Given the description of an element on the screen output the (x, y) to click on. 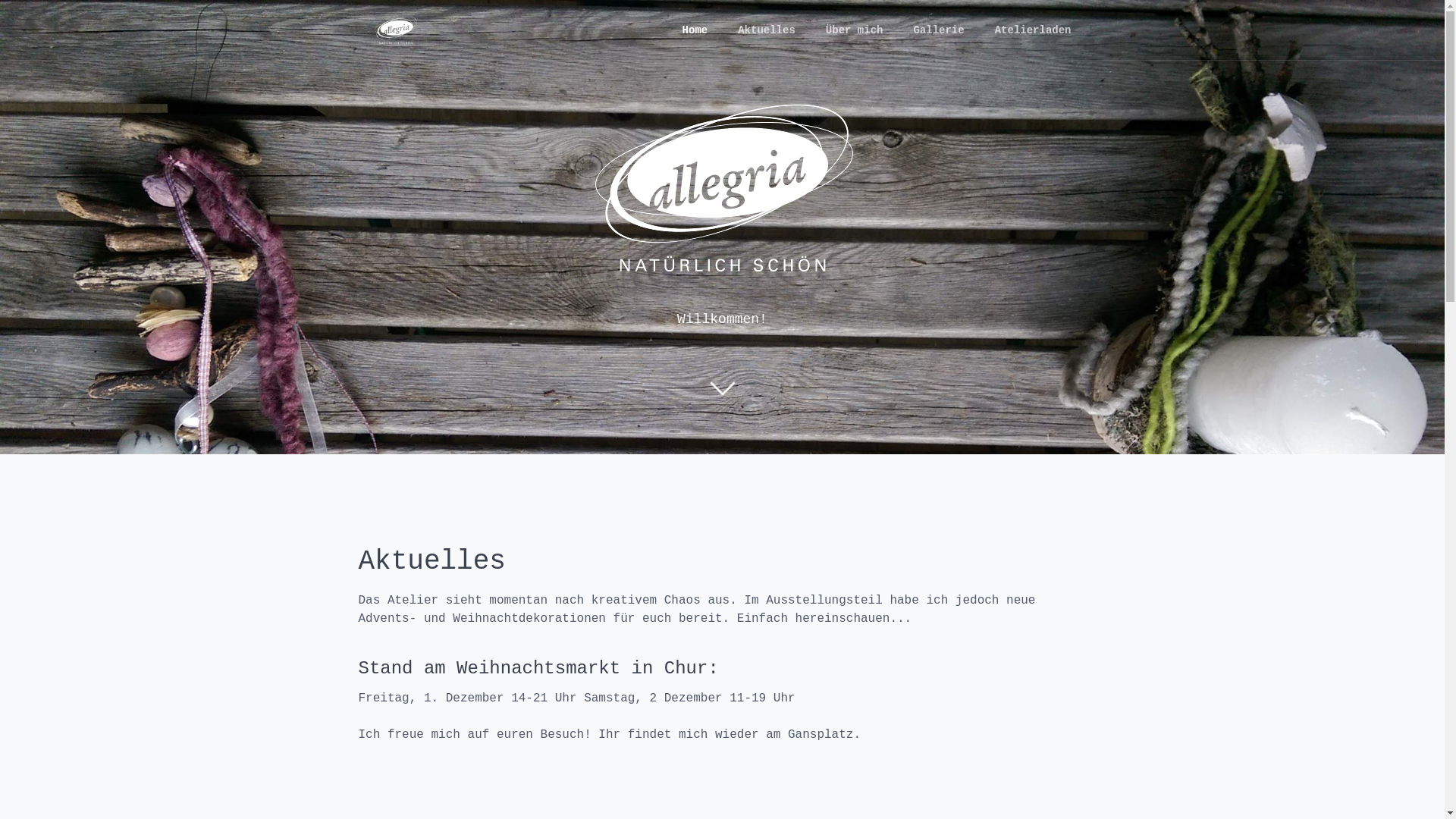
Aktuelles Element type: text (766, 29)
Gallerie Element type: text (938, 29)
Atelierladen Element type: text (1032, 29)
Home Element type: text (695, 29)
